Given the description of an element on the screen output the (x, y) to click on. 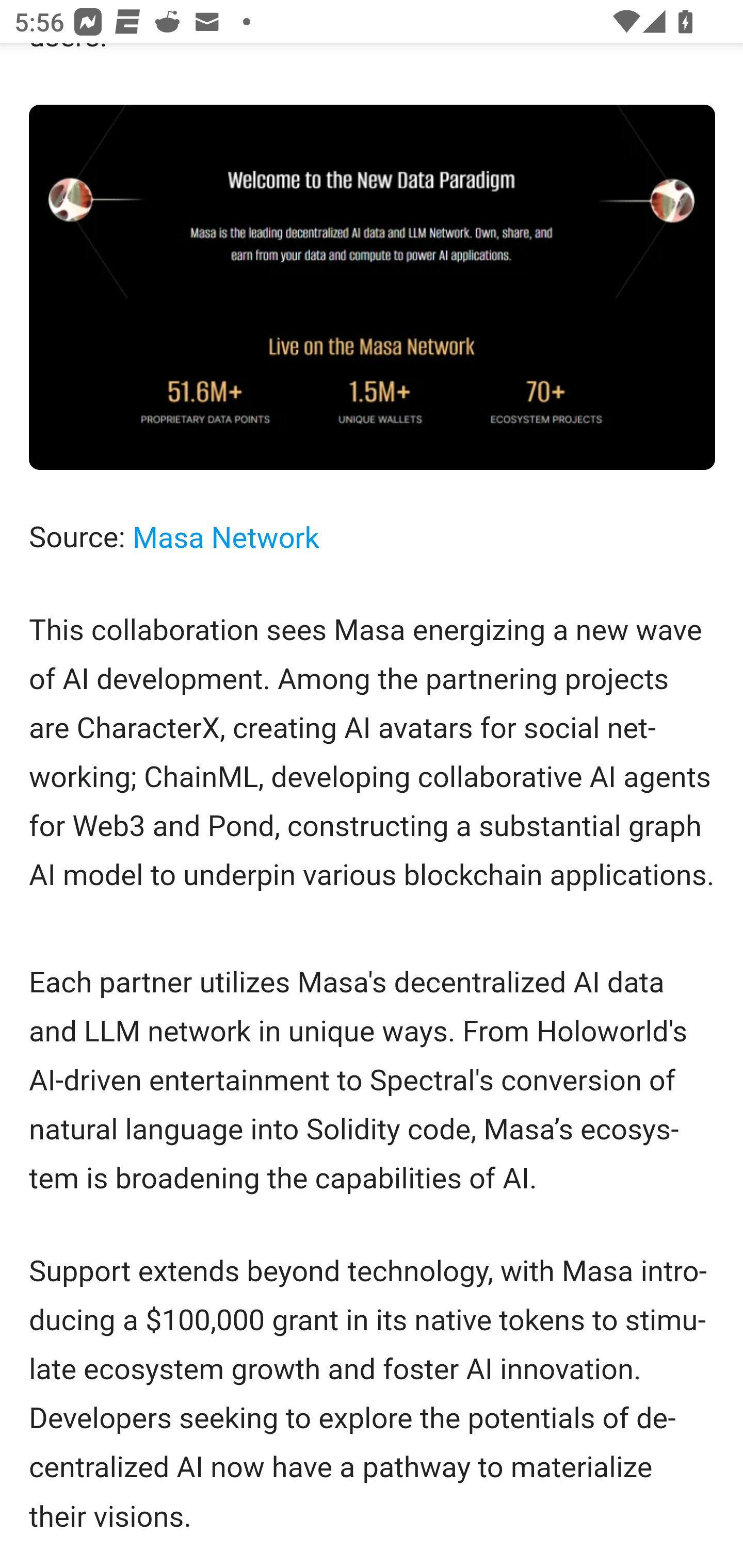
Masa Network (225, 538)
